Given the description of an element on the screen output the (x, y) to click on. 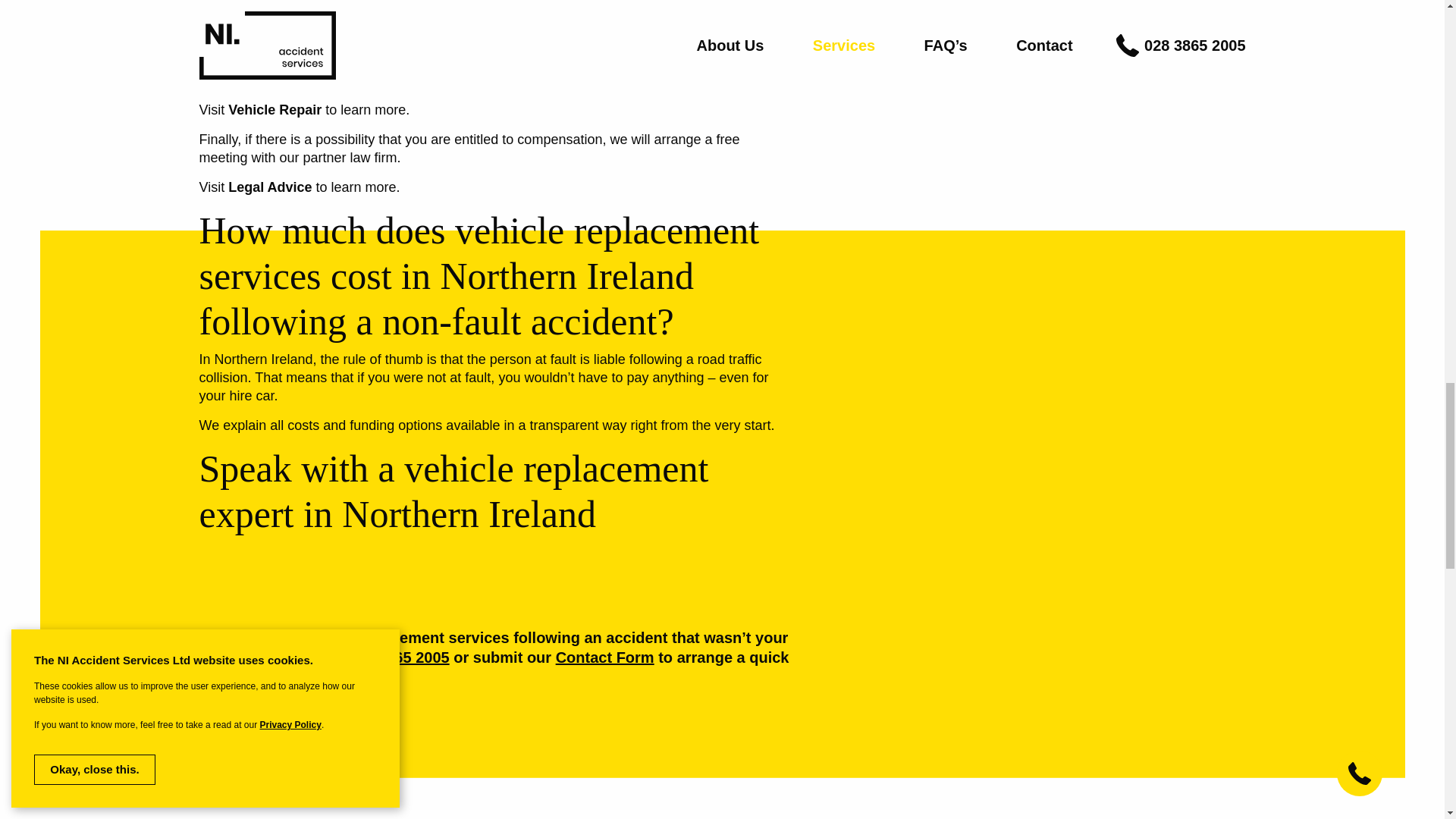
Contact Form (604, 657)
028 3865 2005 (397, 657)
Legal Advice (269, 186)
Vehicle Recovery (284, 50)
Vehicle Repair (274, 109)
